Given the description of an element on the screen output the (x, y) to click on. 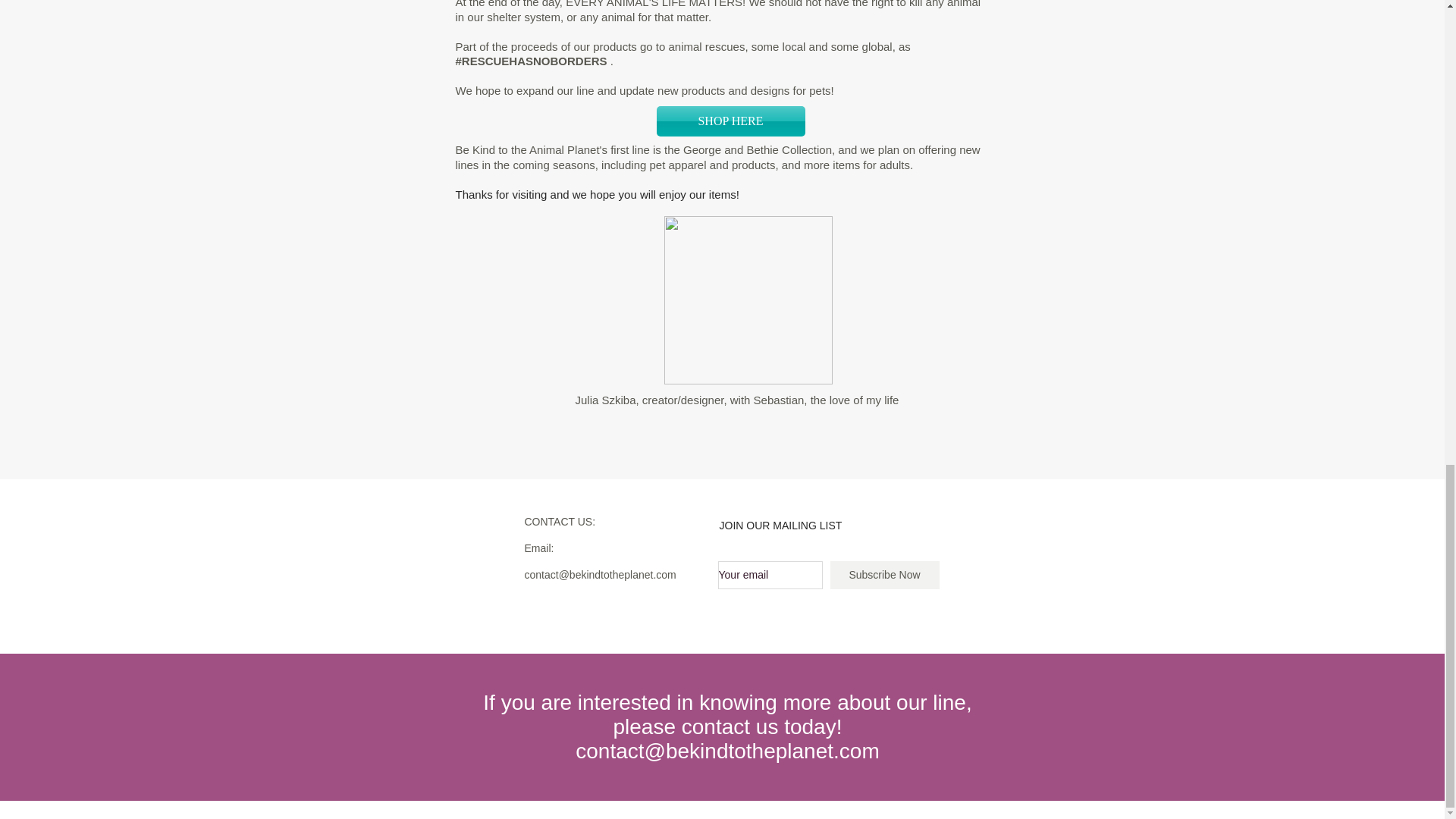
Subscribe Now (884, 574)
SHOP HERE (730, 121)
Wix.com (771, 770)
